Given the description of an element on the screen output the (x, y) to click on. 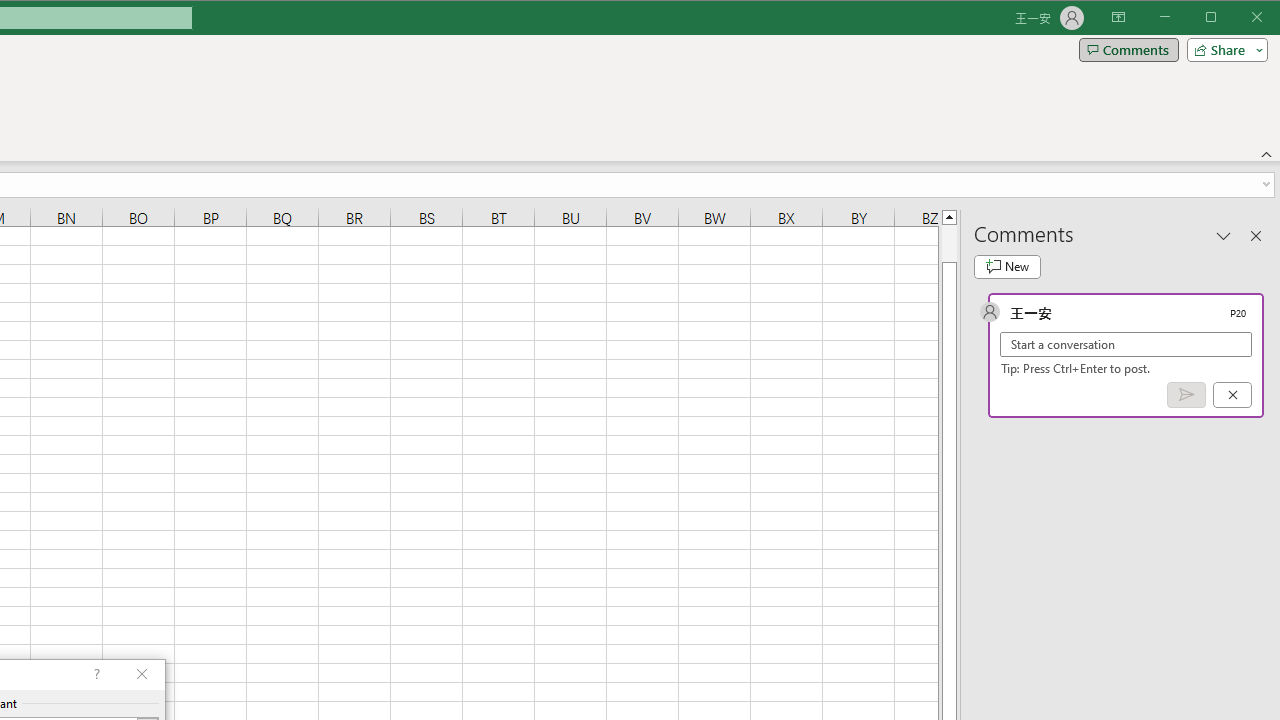
Maximize (1239, 18)
Start a conversation (1126, 344)
